Given the description of an element on the screen output the (x, y) to click on. 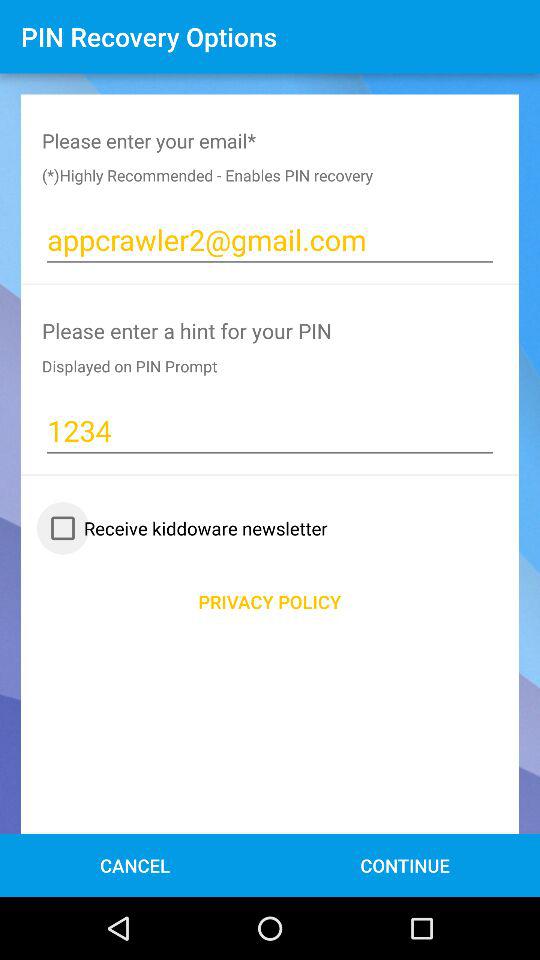
jump until the cancel (134, 864)
